Given the description of an element on the screen output the (x, y) to click on. 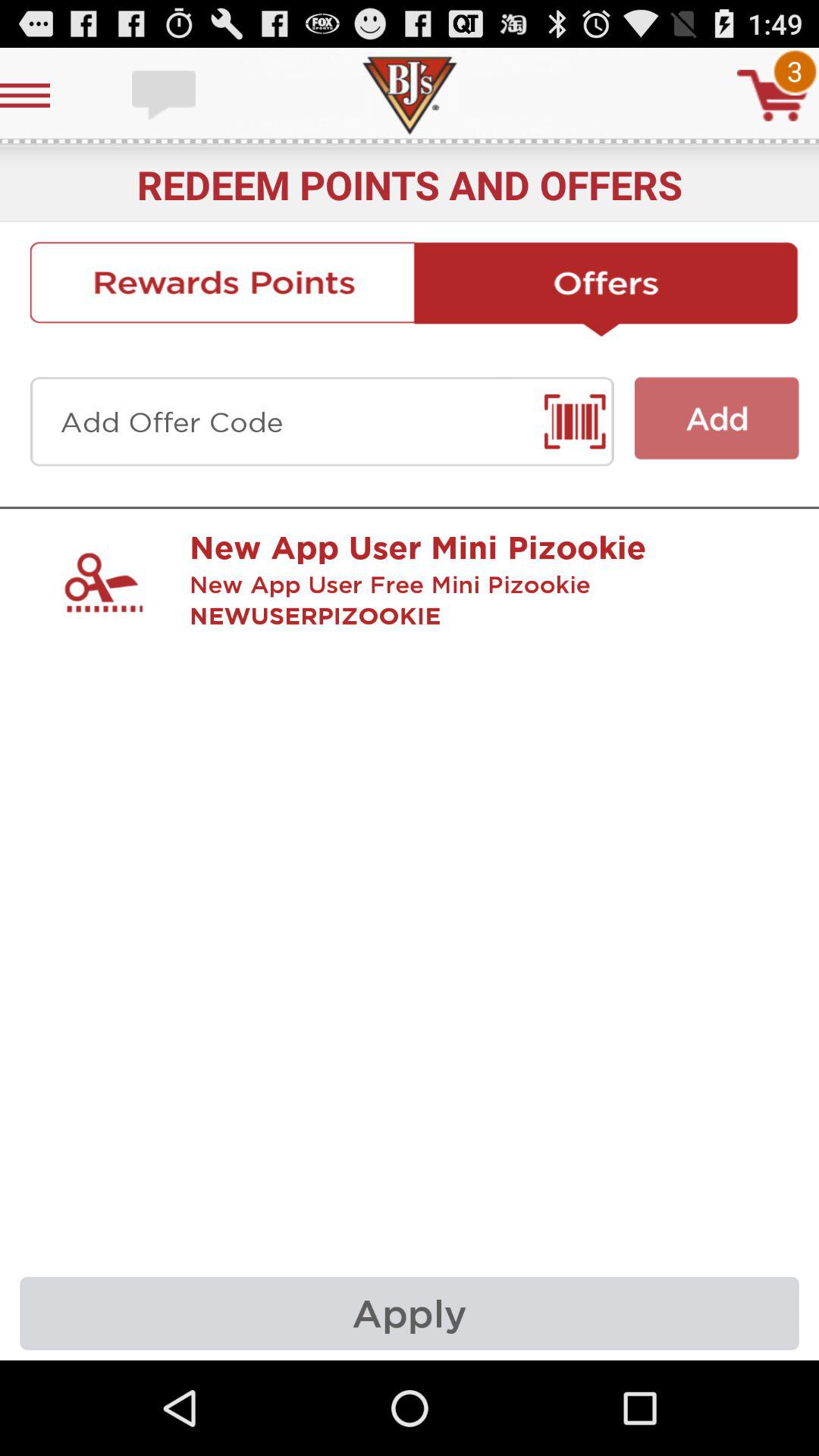
cart (772, 95)
